Given the description of an element on the screen output the (x, y) to click on. 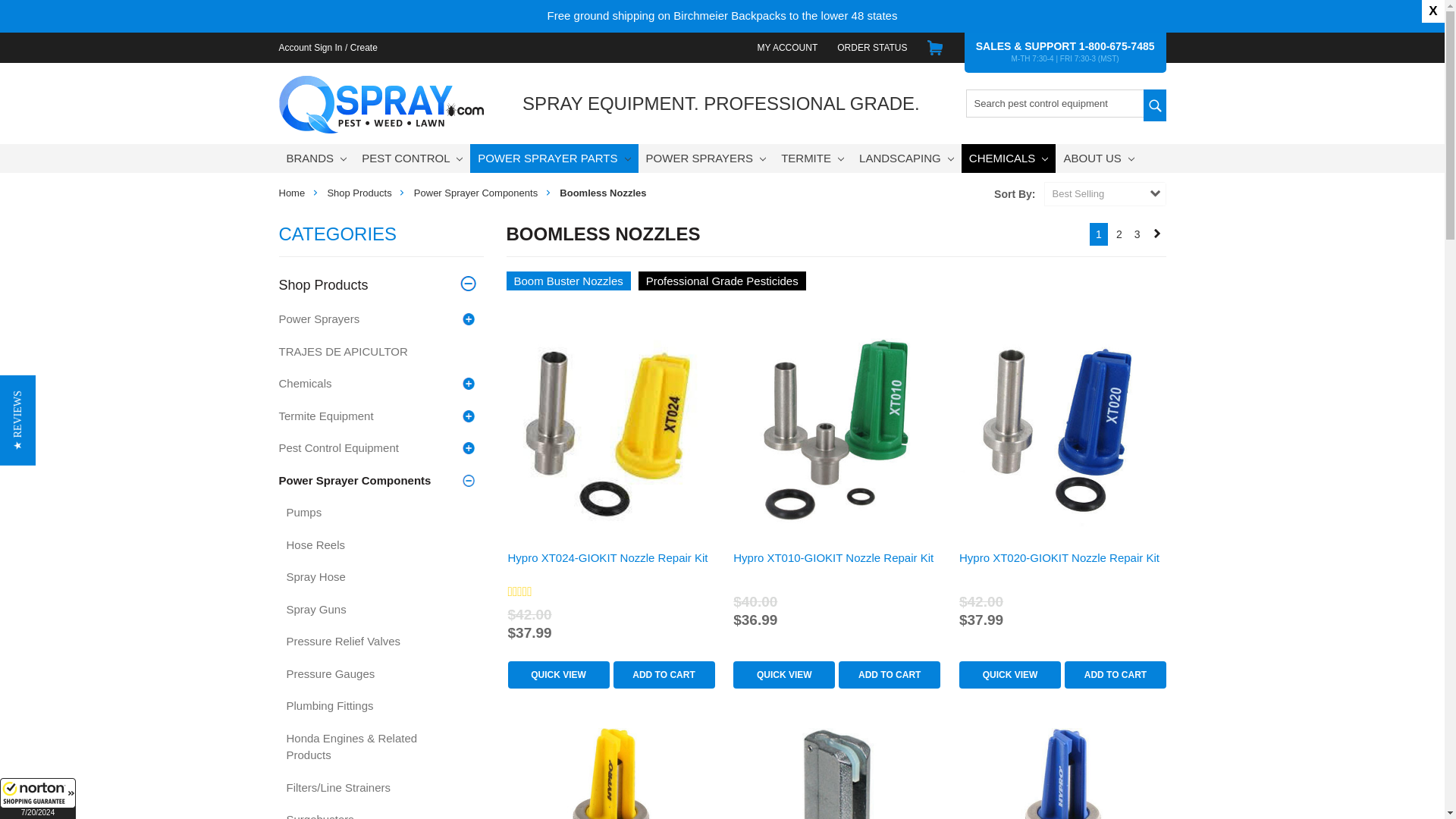
Boom Buster Nozzles (568, 280)
QSpray.com (381, 104)
1-800-675-7485 (1116, 45)
Chemicals (722, 280)
BRANDS (317, 158)
Unused iFrame 1 (37, 798)
PEST CONTROL (411, 158)
Hypro XT024-GIOKIT Nozzle Repair Kit (609, 426)
Hypro XT020-GIOKIT Nozzle Repair Kit (1061, 426)
Hypro XT024 Boom X Tender Spray Nozzle (609, 773)
Account Sign In (309, 46)
BoomBuster 140 Boomless Nozzle (836, 773)
ORDER STATUS (871, 46)
Hypro XT020 Boom X Tender Spray Nozzle (1061, 773)
MY ACCOUNT (787, 46)
